Given the description of an element on the screen output the (x, y) to click on. 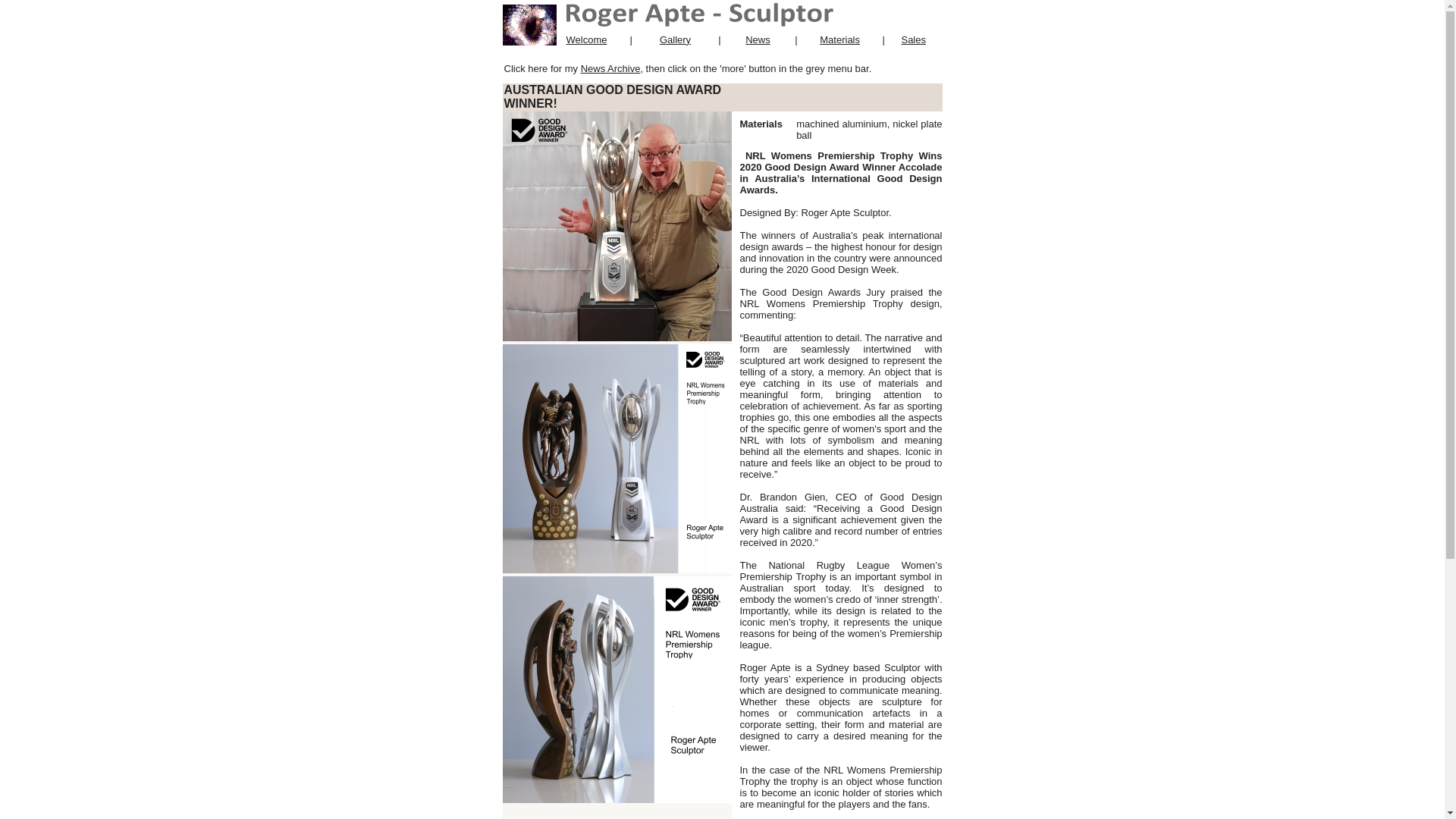
Gallery (674, 39)
Materials (839, 39)
News Archive (610, 68)
Sales (913, 39)
News (757, 39)
Welcome (586, 39)
